Given the description of an element on the screen output the (x, y) to click on. 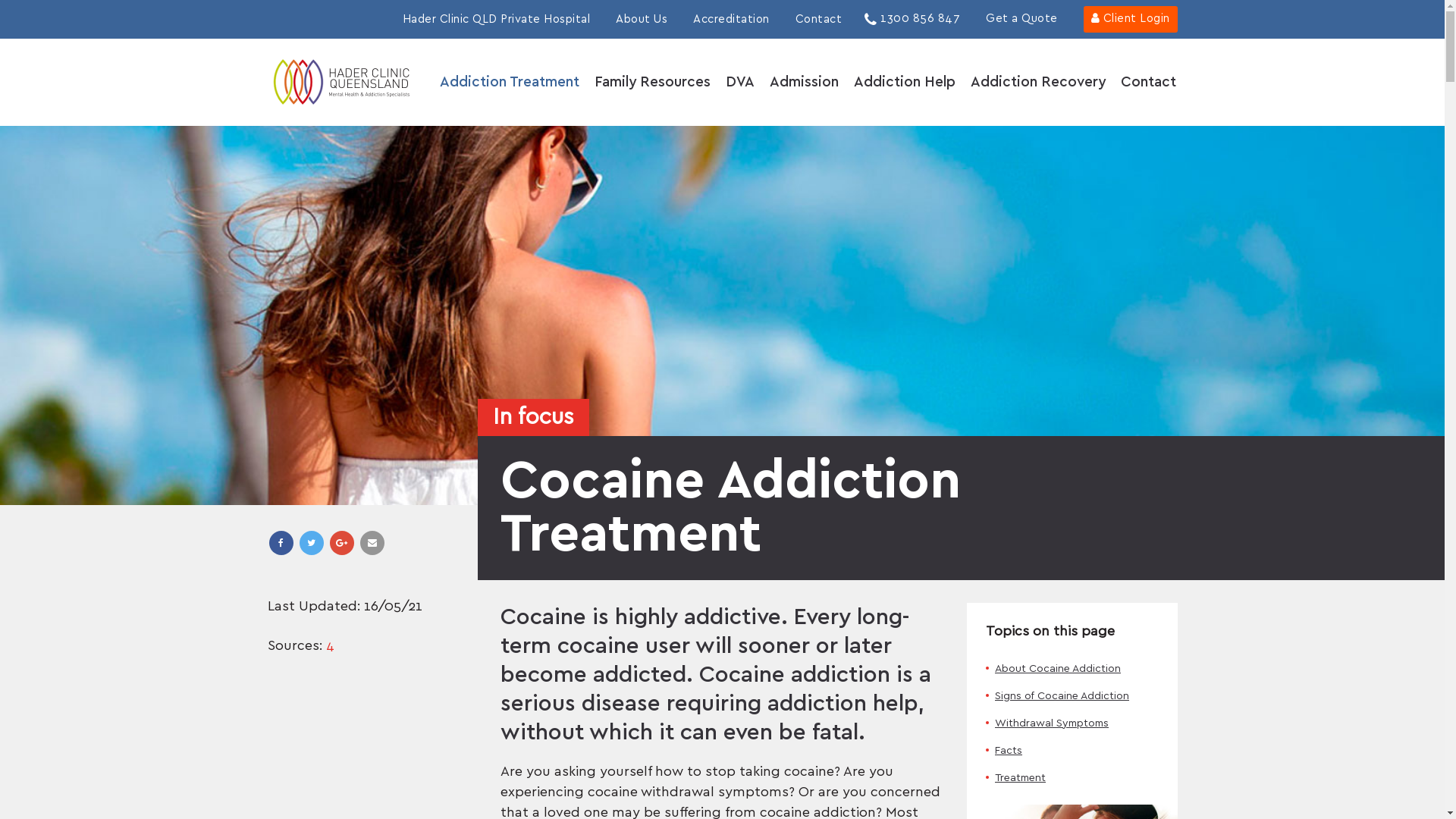
Contact Element type: text (1148, 86)
Withdrawal Symptoms Element type: text (1071, 723)
Addiction Help Element type: text (904, 86)
1300 856 847 Element type: text (912, 18)
About Us Element type: text (641, 19)
Get a Quote Element type: text (1021, 18)
Family Resources Element type: text (652, 86)
Treatment Element type: text (1071, 778)
Accreditation Element type: text (731, 19)
Contact Element type: text (817, 19)
DVA Element type: text (739, 86)
Admission Element type: text (803, 86)
Addiction Treatment Element type: text (509, 86)
About Cocaine Addiction Element type: text (1071, 669)
Addiction Recovery Element type: text (1038, 86)
Facts Element type: text (1071, 751)
Hader Clinic QLD Private Hospital Element type: text (495, 19)
Client Login Element type: text (1129, 19)
4 Element type: text (330, 645)
Signs of Cocaine Addiction Element type: text (1071, 696)
